Given the description of an element on the screen output the (x, y) to click on. 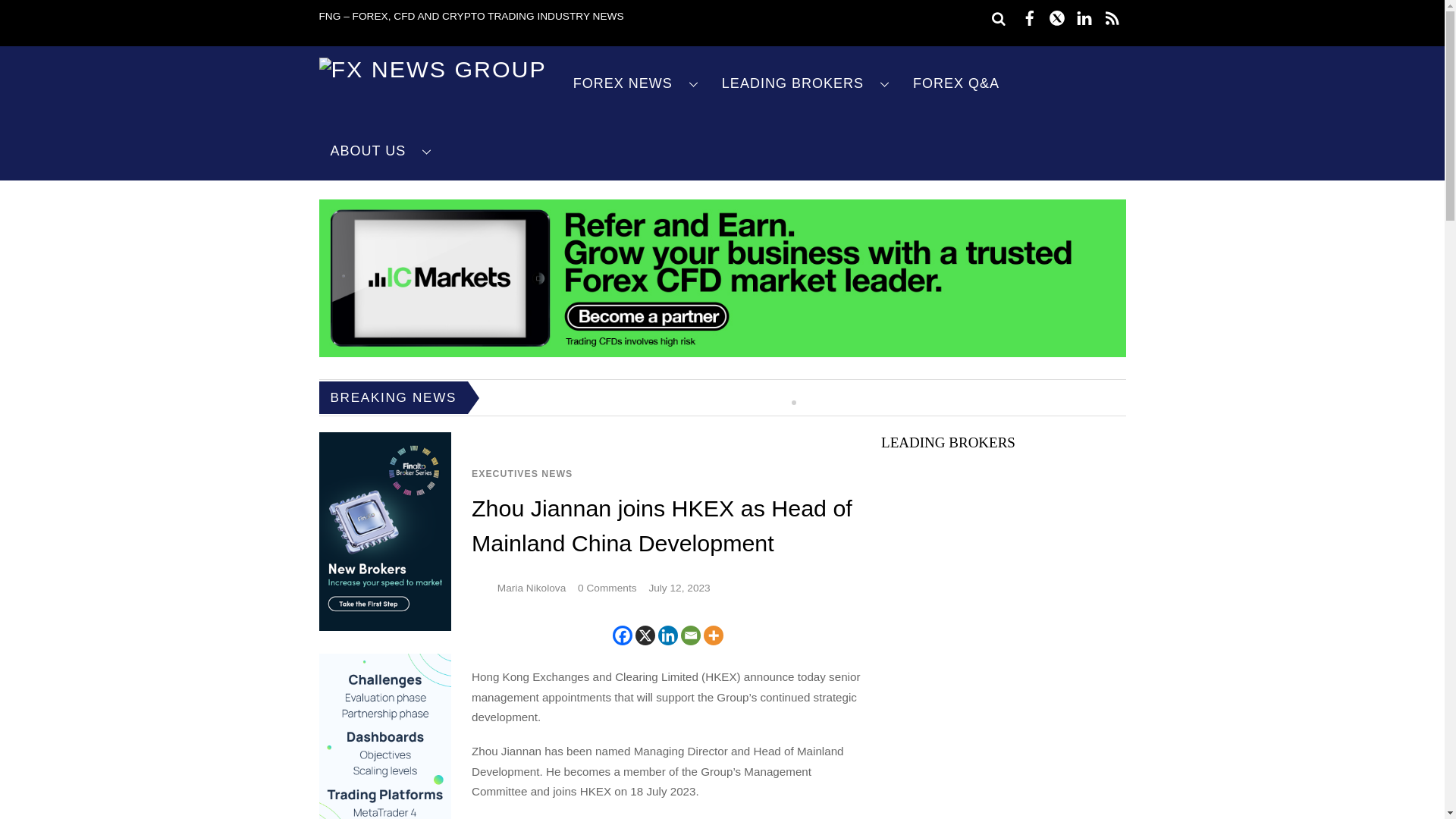
X (644, 635)
FX News Group (432, 68)
Email (690, 635)
Linkedin (668, 635)
More (713, 635)
LEADING BROKERS (805, 83)
FOREX NEWS (636, 83)
Facebook (621, 635)
